Given the description of an element on the screen output the (x, y) to click on. 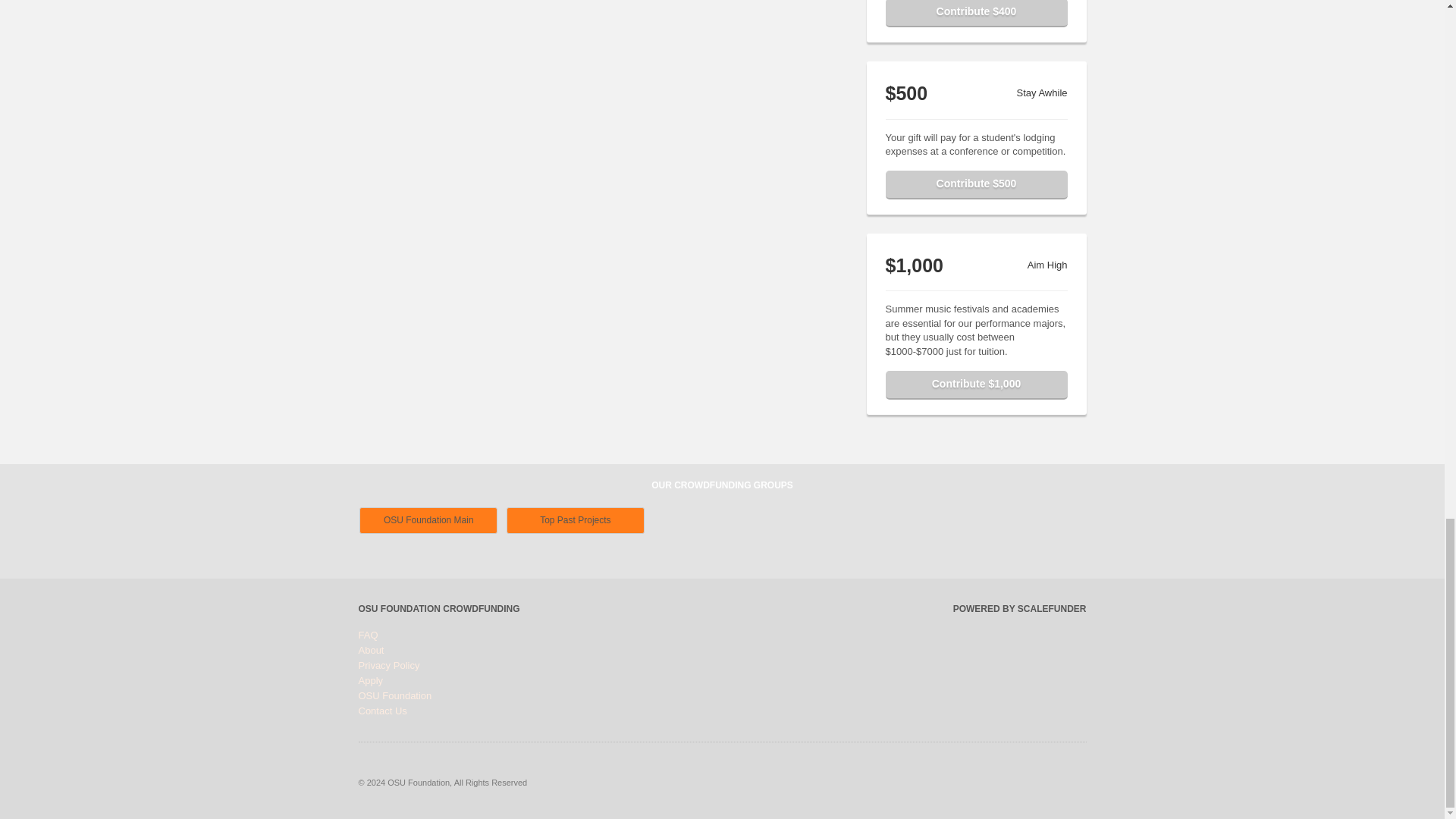
Apply (370, 680)
Privacy Policy (388, 665)
OSU FOUNDATION CROWDFUNDING (438, 608)
FAQ (367, 634)
OSU Foundation Main (428, 519)
Top Past Projects (575, 519)
OSU Foundation (394, 695)
About (371, 650)
